Given the description of an element on the screen output the (x, y) to click on. 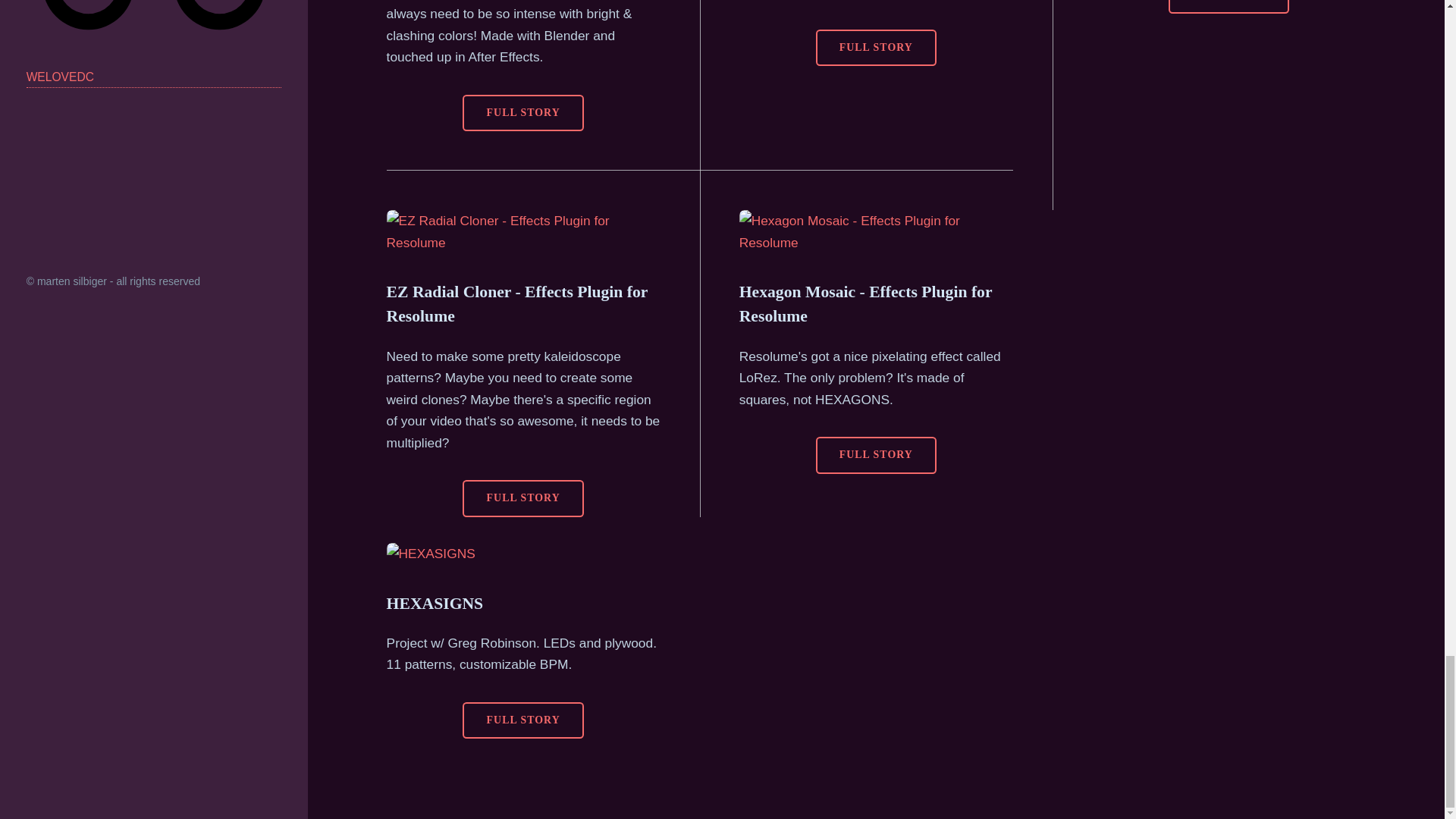
FULL STORY (875, 455)
HEXASIGNS (435, 603)
FULL STORY (523, 497)
FULL STORY (875, 47)
FULL STORY (523, 113)
FULL STORY (1228, 6)
Hexagon Mosaic - Effects Plugin for Resolume (865, 303)
EZ Radial Cloner - Effects Plugin for Resolume (517, 303)
